Given the description of an element on the screen output the (x, y) to click on. 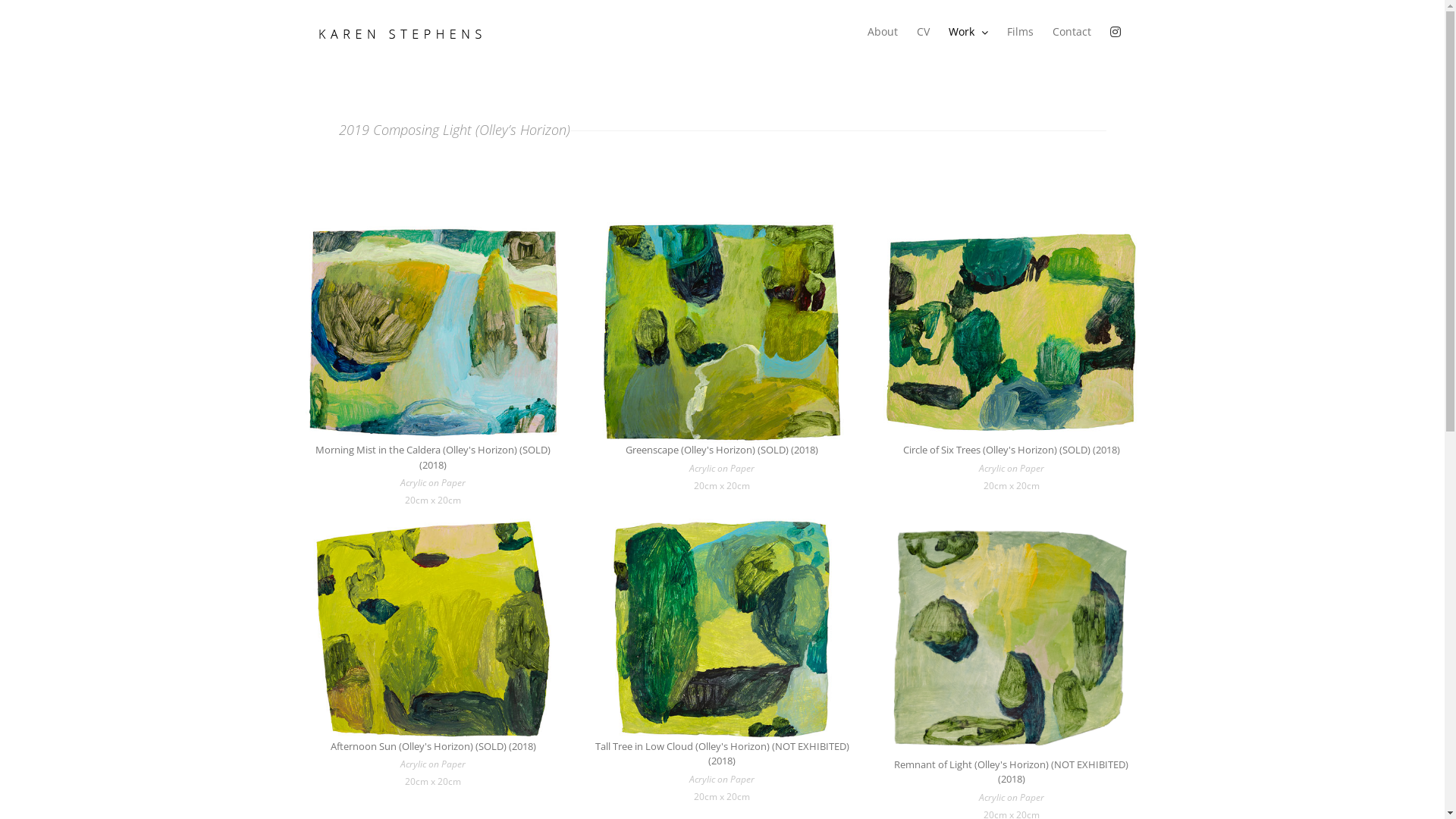
Greenscape (Olley's Horizon) (SOLD) Element type: hover (722, 332)
Morning Mist in the Caldera (Olley's Horizon) (SOLD) Element type: hover (432, 332)
Afternoon Sun (Olley's Horizon) (SOLD) Element type: hover (432, 628)
Contact Element type: text (1071, 31)
Work Element type: text (967, 31)
Films Element type: text (1020, 31)
About Element type: text (882, 31)
Remnant of Light (Olley's Horizon) (NOT EXHIBITED) Element type: hover (1011, 637)
Circle of Six Trees (Olley's Horizon) (SOLD) Element type: hover (1011, 332)
Tall Tree in Low Cloud (Olley's Horizon) (NOT EXHIBITED) Element type: hover (722, 628)
CV Element type: text (922, 31)
